Given the description of an element on the screen output the (x, y) to click on. 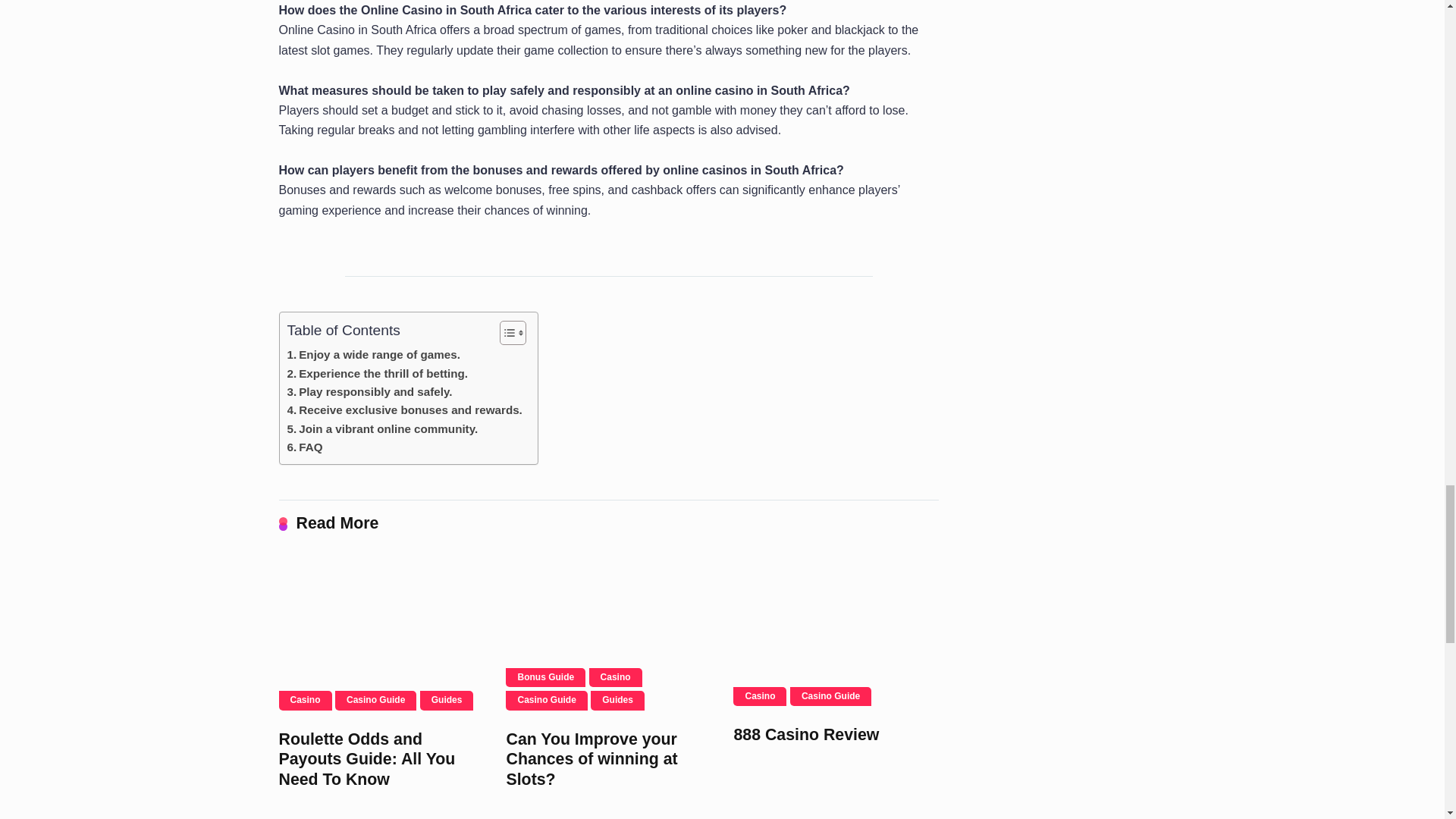
Can You Improve your Chances of winning at Slots? (591, 759)
FAQ (303, 447)
Enjoy a wide range of games. (373, 354)
Receive exclusive bonuses and rewards. (403, 410)
Roulette Odds and Payouts Guide: All You Need To Know (367, 759)
Join a vibrant online community. (381, 429)
888 Casino Review (806, 734)
Play responsibly and safely. (368, 392)
Can You Improve your Chances of winning at Slots? (607, 633)
Experience the thrill of betting. (376, 373)
888 Casino Review (835, 631)
Roulette Odds and Payouts Guide: All You Need To Know (381, 633)
